Given the description of an element on the screen output the (x, y) to click on. 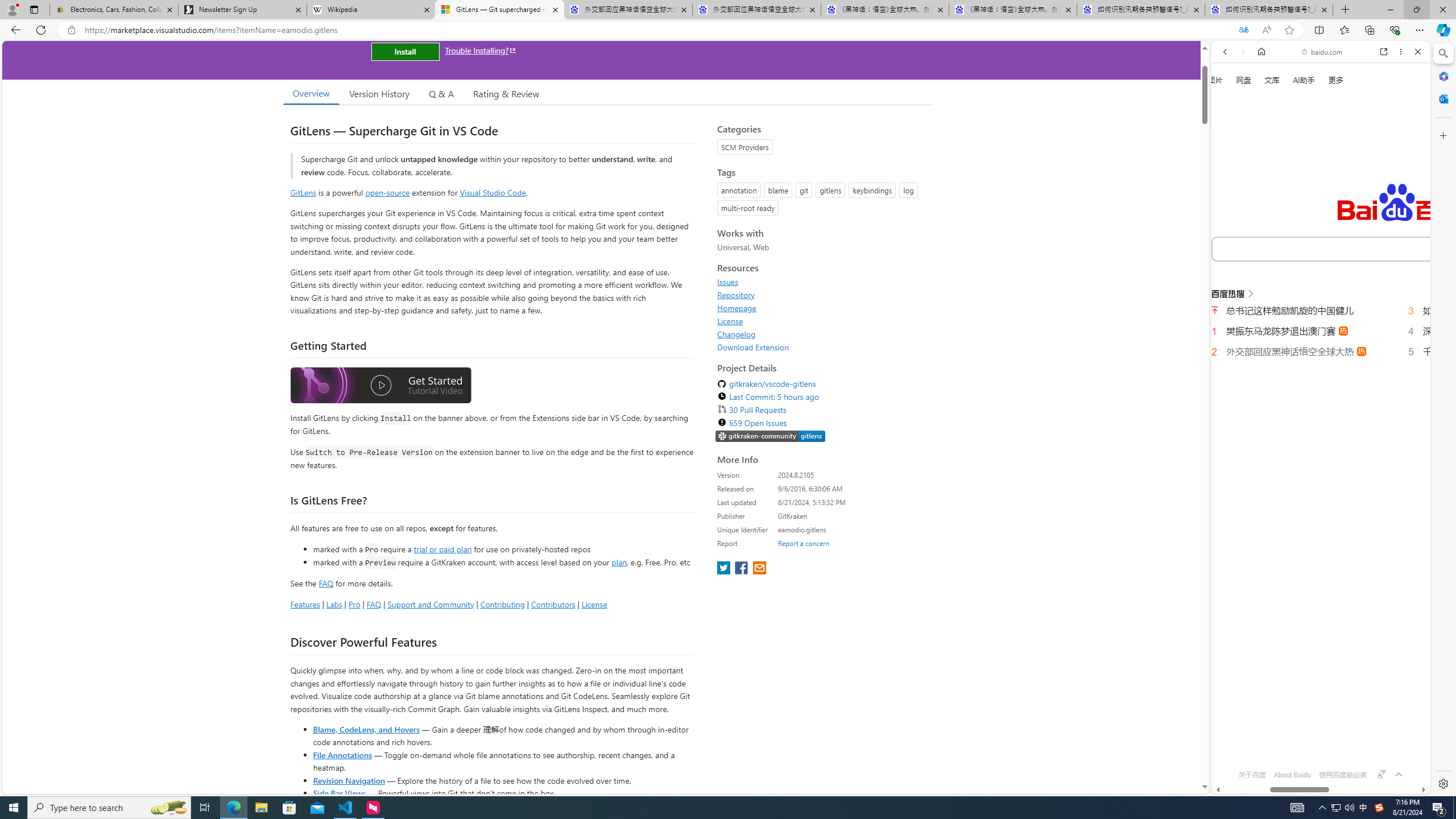
Outlook (1442, 98)
Contributing (502, 603)
Search Filter, VIDEOS (1300, 192)
License (729, 320)
Download Extension (753, 346)
OF | English meaning - Cambridge Dictionary (1315, 238)
About Baidu (1292, 774)
